Given the description of an element on the screen output the (x, y) to click on. 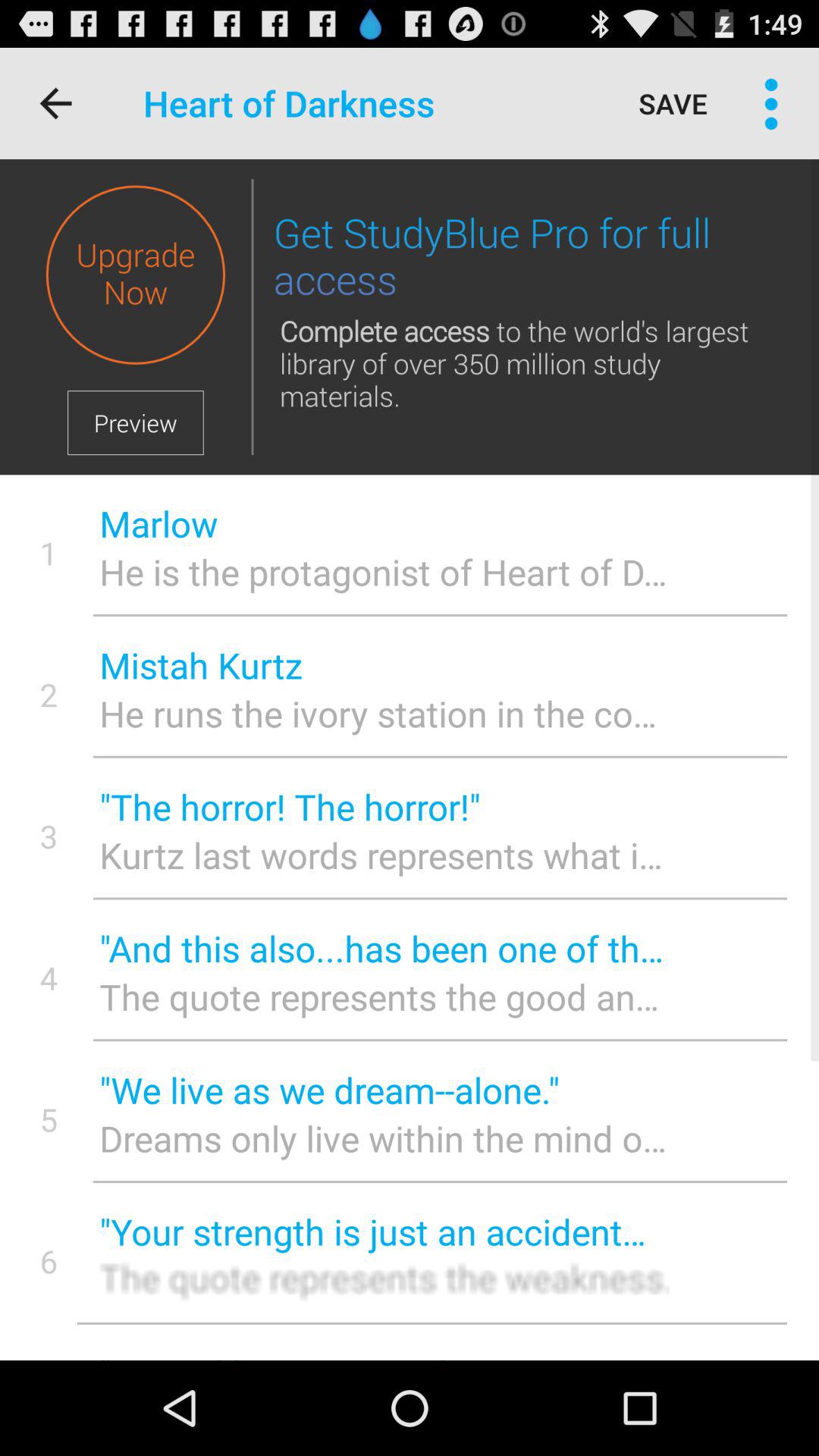
turn off item to the left of and this also (48, 977)
